Given the description of an element on the screen output the (x, y) to click on. 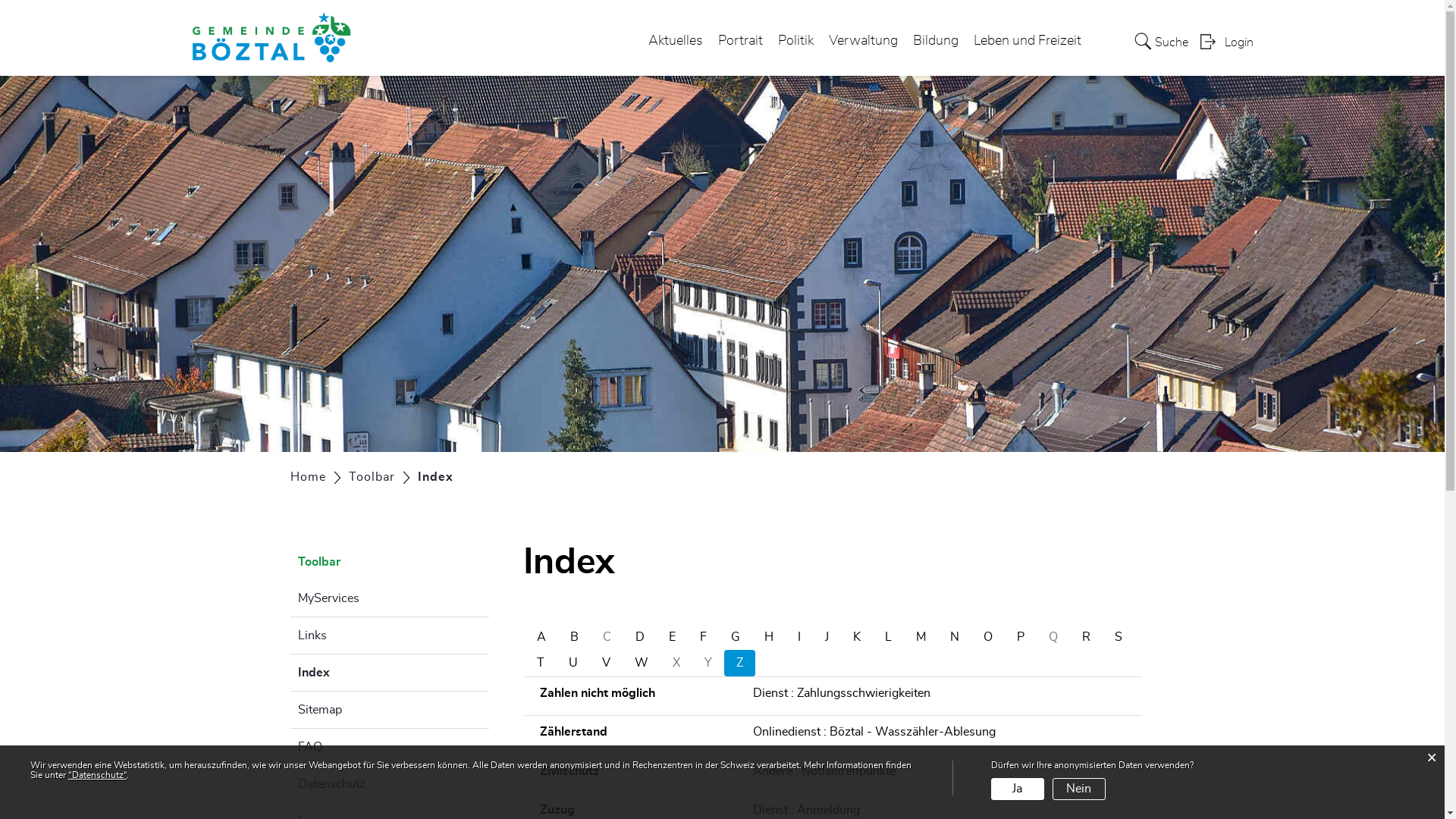
S Element type: text (1118, 636)
zur Startseite Element type: text (0, 0)
V Element type: text (605, 662)
J Element type: text (826, 636)
M Element type: text (920, 636)
Bildung Element type: text (935, 40)
Verwaltung Element type: text (862, 40)
Ja Element type: text (1017, 789)
Home Element type: text (307, 476)
Politik Element type: text (795, 40)
Sitemap Element type: text (389, 709)
L Element type: text (887, 636)
Q Element type: text (1053, 636)
G Element type: text (735, 636)
F Element type: text (702, 636)
Y Element type: text (708, 662)
Leben und Freizeit Element type: text (1027, 40)
I Element type: text (798, 636)
MyServices Element type: text (389, 598)
X Element type: text (676, 662)
B Element type: text (574, 636)
Toolbar Element type: text (389, 561)
P Element type: text (1020, 636)
H Element type: text (768, 636)
O Element type: text (987, 636)
W Element type: text (641, 662)
N Element type: text (954, 636)
K Element type: text (856, 636)
A Element type: text (541, 636)
D Element type: text (639, 636)
Portrait Element type: text (739, 40)
Suche Element type: text (1161, 41)
Toolbar Element type: text (371, 476)
Datenschutz Element type: text (389, 783)
Dienst : Zahlungsschwierigkeiten Element type: text (939, 693)
Aktuelles Element type: text (674, 40)
C Element type: text (606, 636)
E Element type: text (671, 636)
FAQ Element type: text (389, 746)
Links Element type: text (389, 635)
Andere : Notfalltreffpunkte Element type: text (939, 771)
Nein Element type: text (1078, 789)
T Element type: text (540, 662)
R Element type: text (1086, 636)
U Element type: text (572, 662)
Login Element type: text (1225, 41)
Z Element type: text (739, 662)
